Given the description of an element on the screen output the (x, y) to click on. 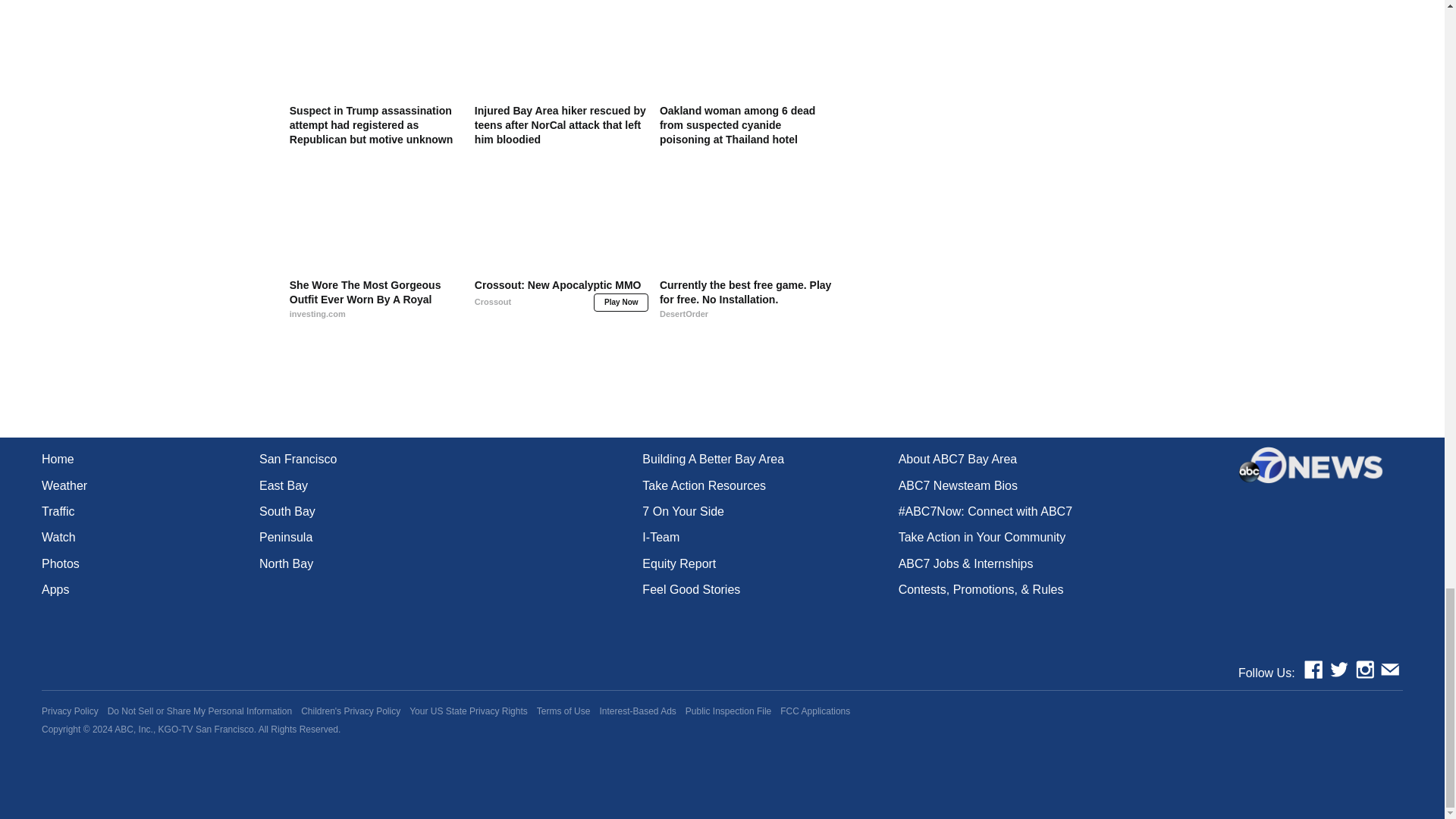
She Wore The Most Gorgeous Outfit Ever Worn By A Royal (376, 306)
Crossout: New Apocalyptic MMO (560, 306)
